Given the description of an element on the screen output the (x, y) to click on. 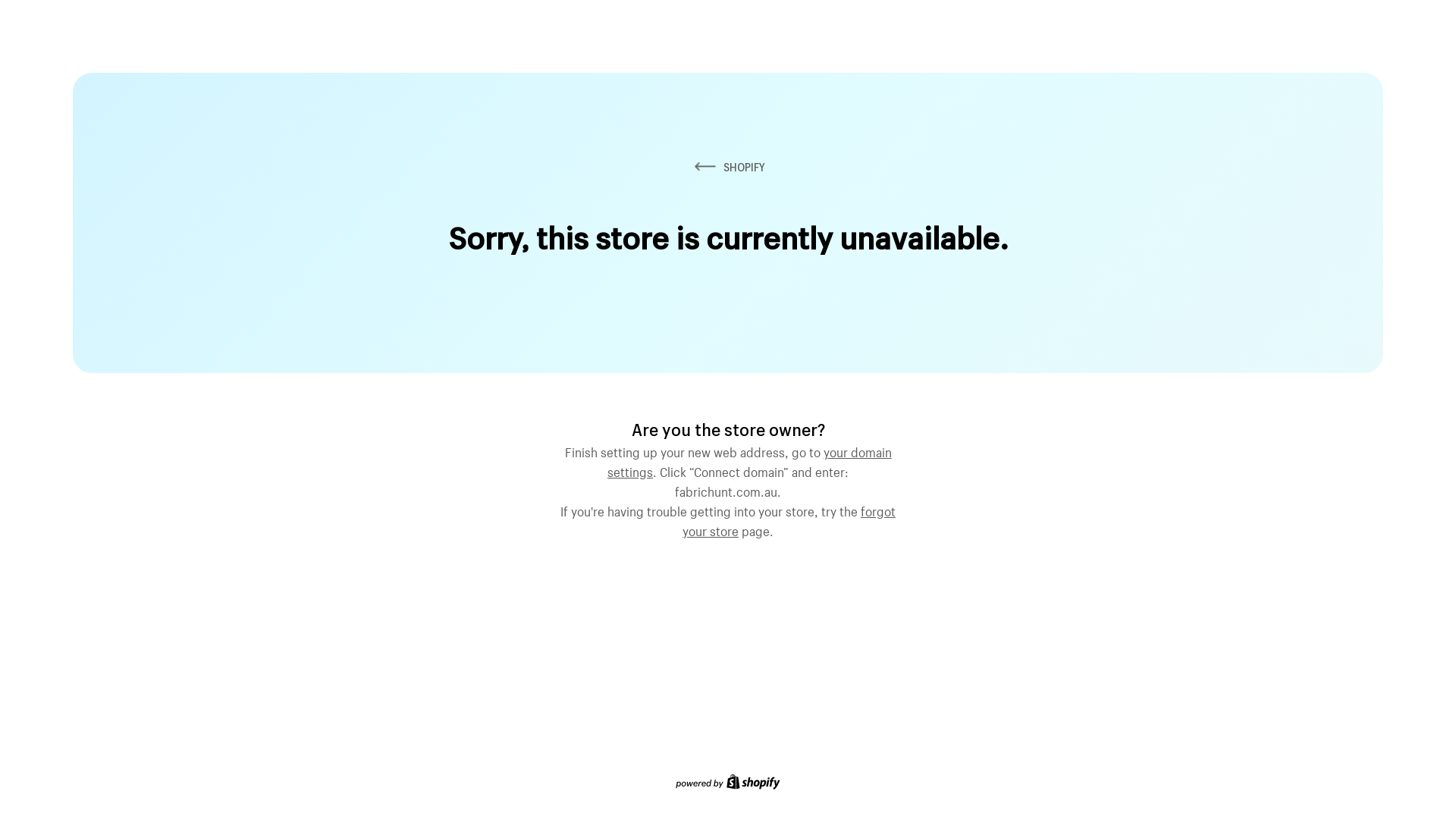
your domain settings Element type: text (749, 460)
SHOPIFY Element type: text (727, 167)
forgot your store Element type: text (788, 519)
